Given the description of an element on the screen output the (x, y) to click on. 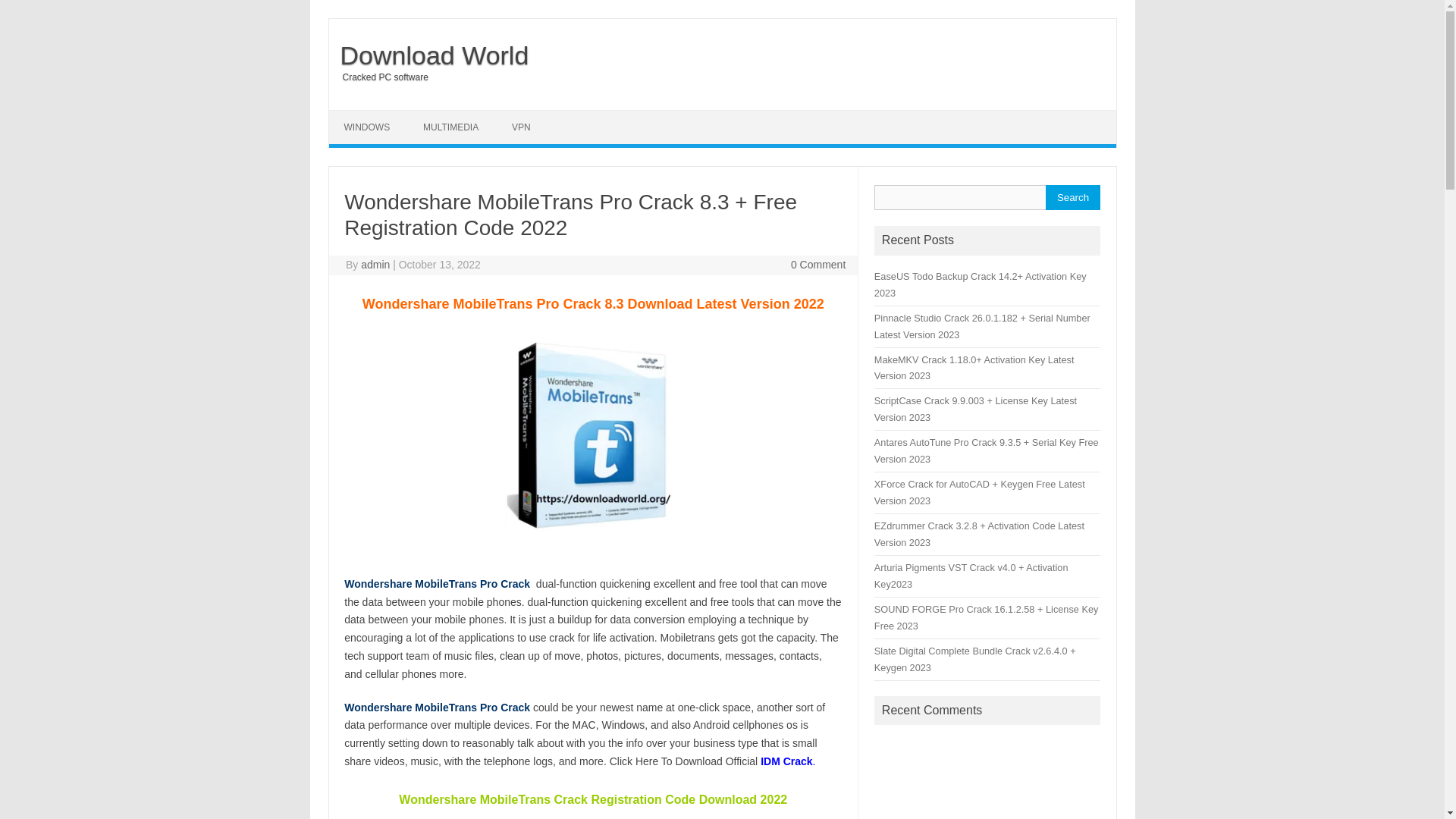
IDM Crack. (787, 761)
0 Comment (817, 264)
Download World (429, 54)
admin (375, 264)
Search (1072, 197)
Download World (429, 54)
Cracked PC software (378, 77)
Posts by admin (375, 264)
VPN (521, 127)
Skip to content (363, 114)
